Given the description of an element on the screen output the (x, y) to click on. 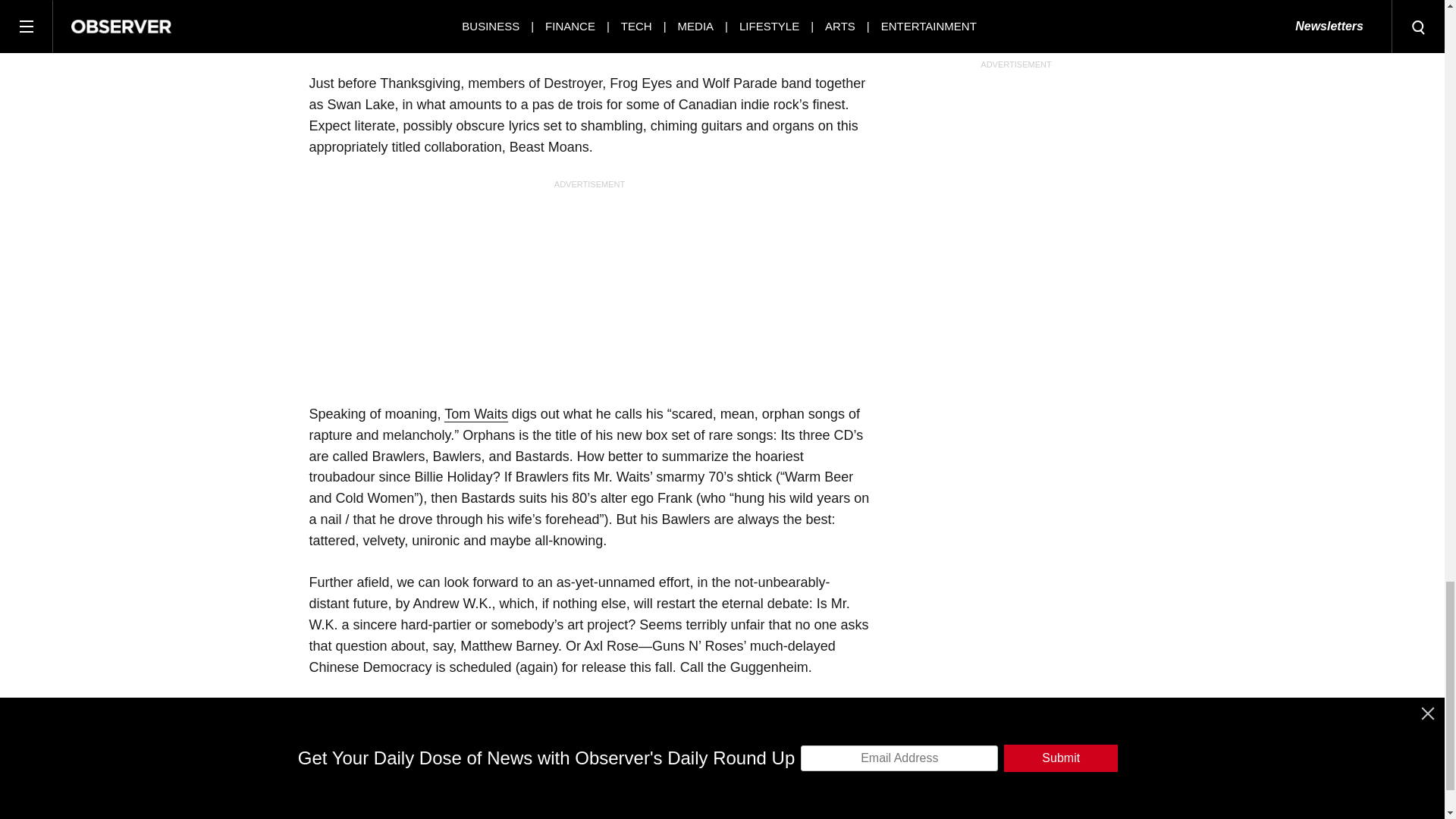
Tom Waits (475, 414)
